Given the description of an element on the screen output the (x, y) to click on. 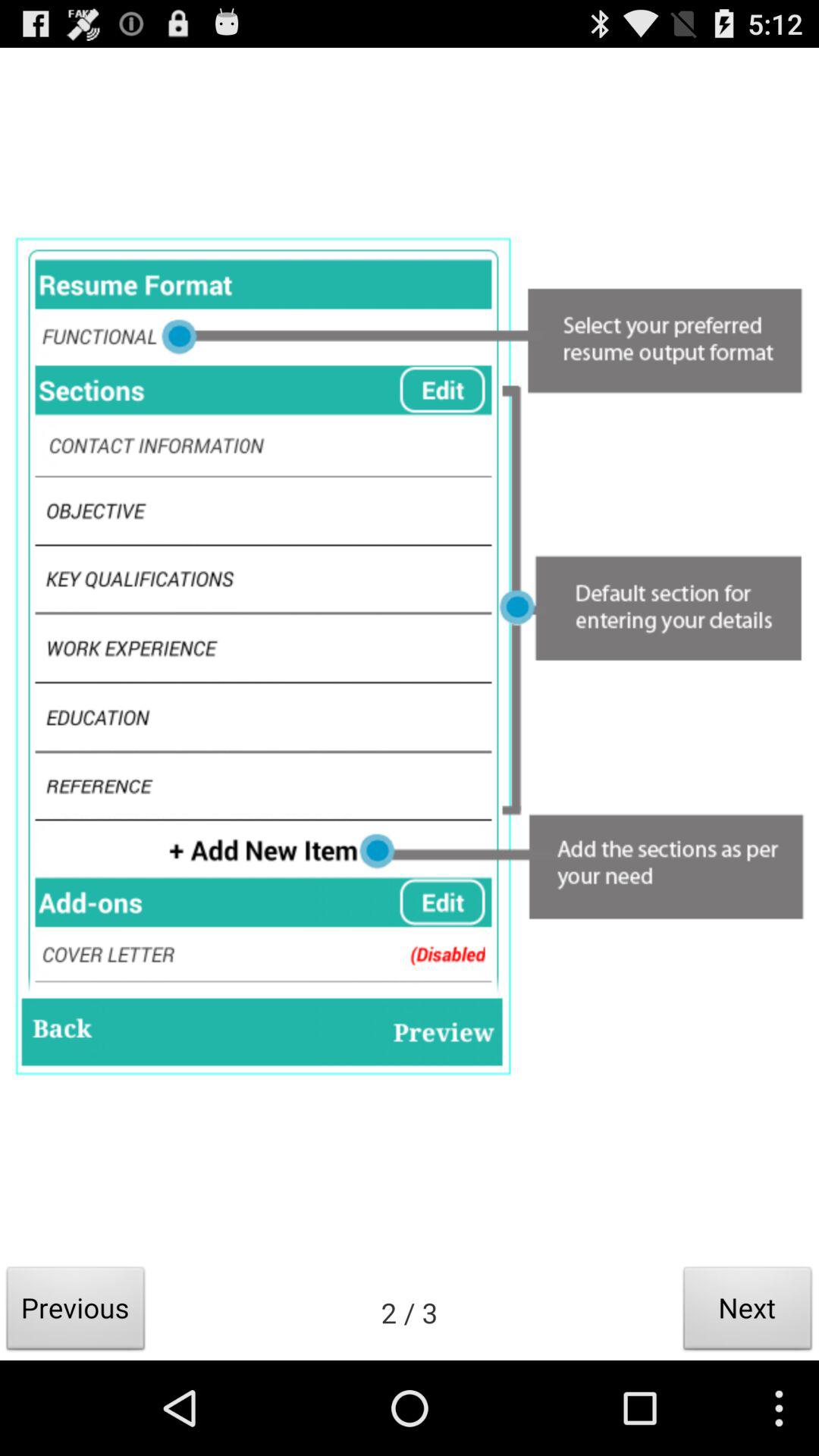
select icon to the left of 2 / 3 app (75, 1312)
